Given the description of an element on the screen output the (x, y) to click on. 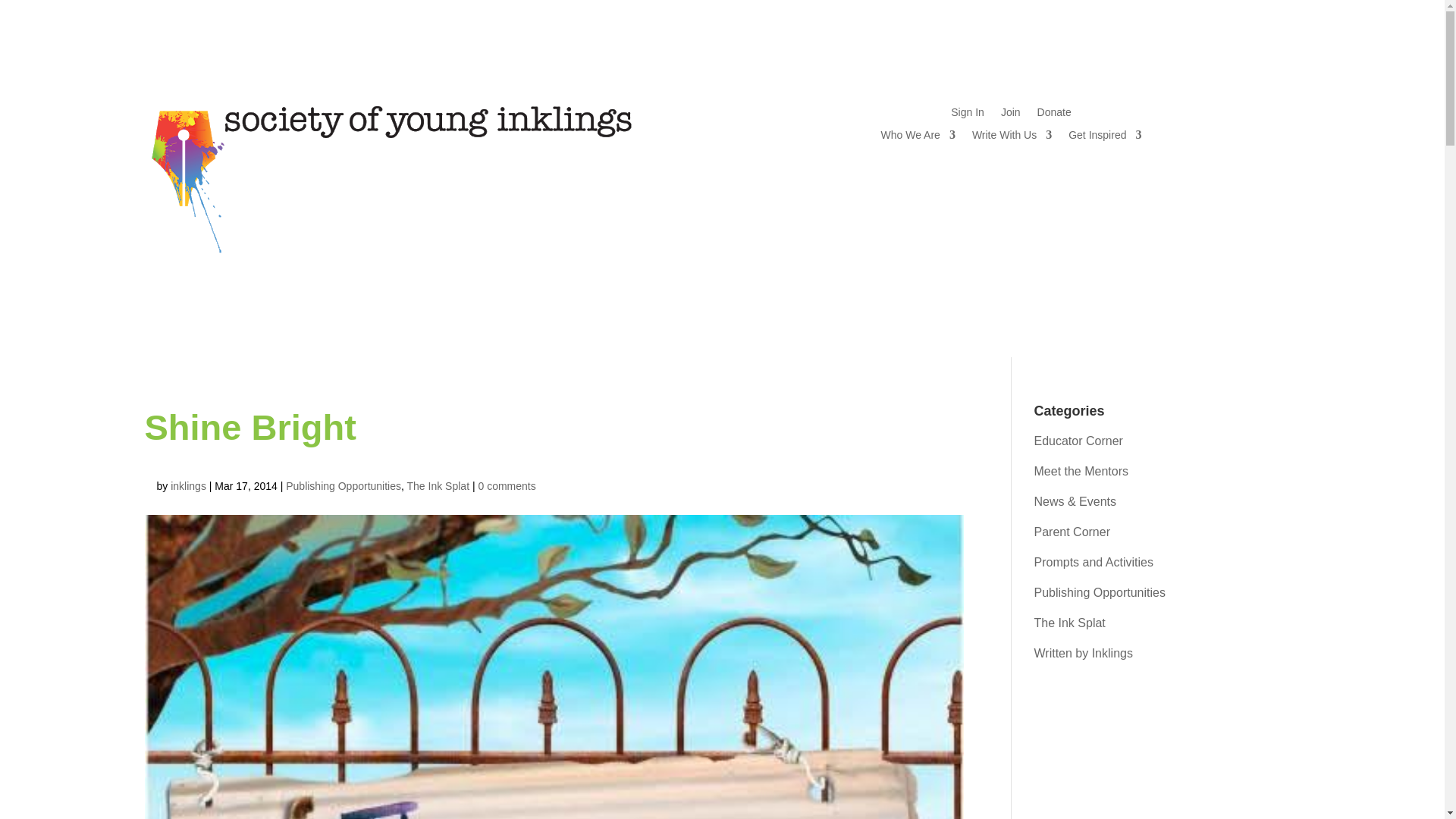
Written by Inklings (1082, 653)
0 comments (506, 485)
Donate (1053, 115)
Meet the Mentors (1081, 471)
The Ink Splat (438, 485)
Get Inspired (1104, 137)
The Ink Splat (1069, 622)
inklings (188, 485)
Publishing Opportunities (1099, 592)
Publishing Opportunities (343, 485)
newlogo (390, 177)
Write With Us (1011, 137)
Join (1010, 115)
Sign In (967, 115)
Educator Corner (1077, 440)
